Given the description of an element on the screen output the (x, y) to click on. 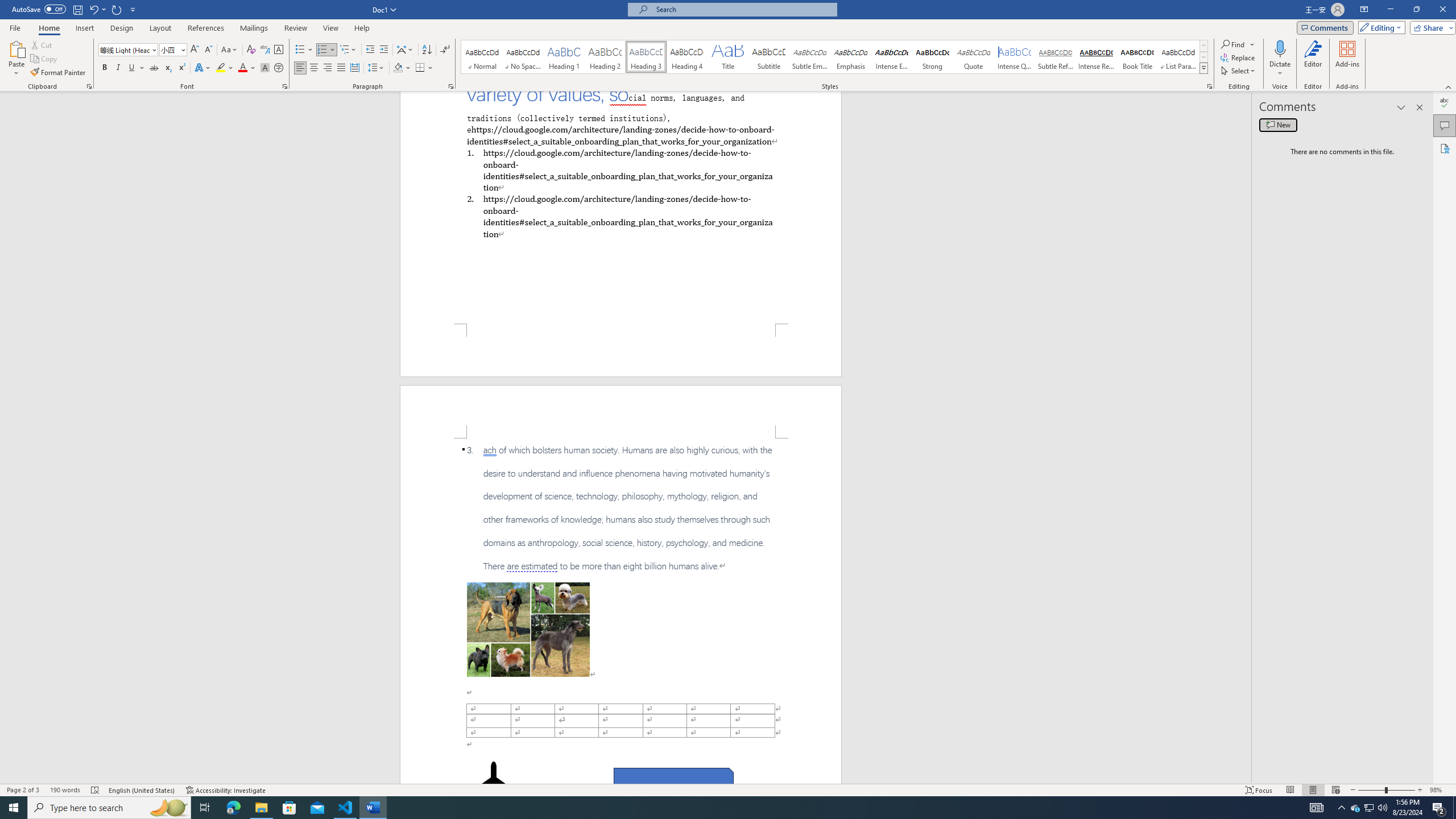
Format Painter (58, 72)
Distributed (354, 67)
Character Shading (264, 67)
Decrease Indent (370, 49)
Clear Formatting (250, 49)
Quote (973, 56)
Heading 3 (646, 56)
Strong (932, 56)
